Given the description of an element on the screen output the (x, y) to click on. 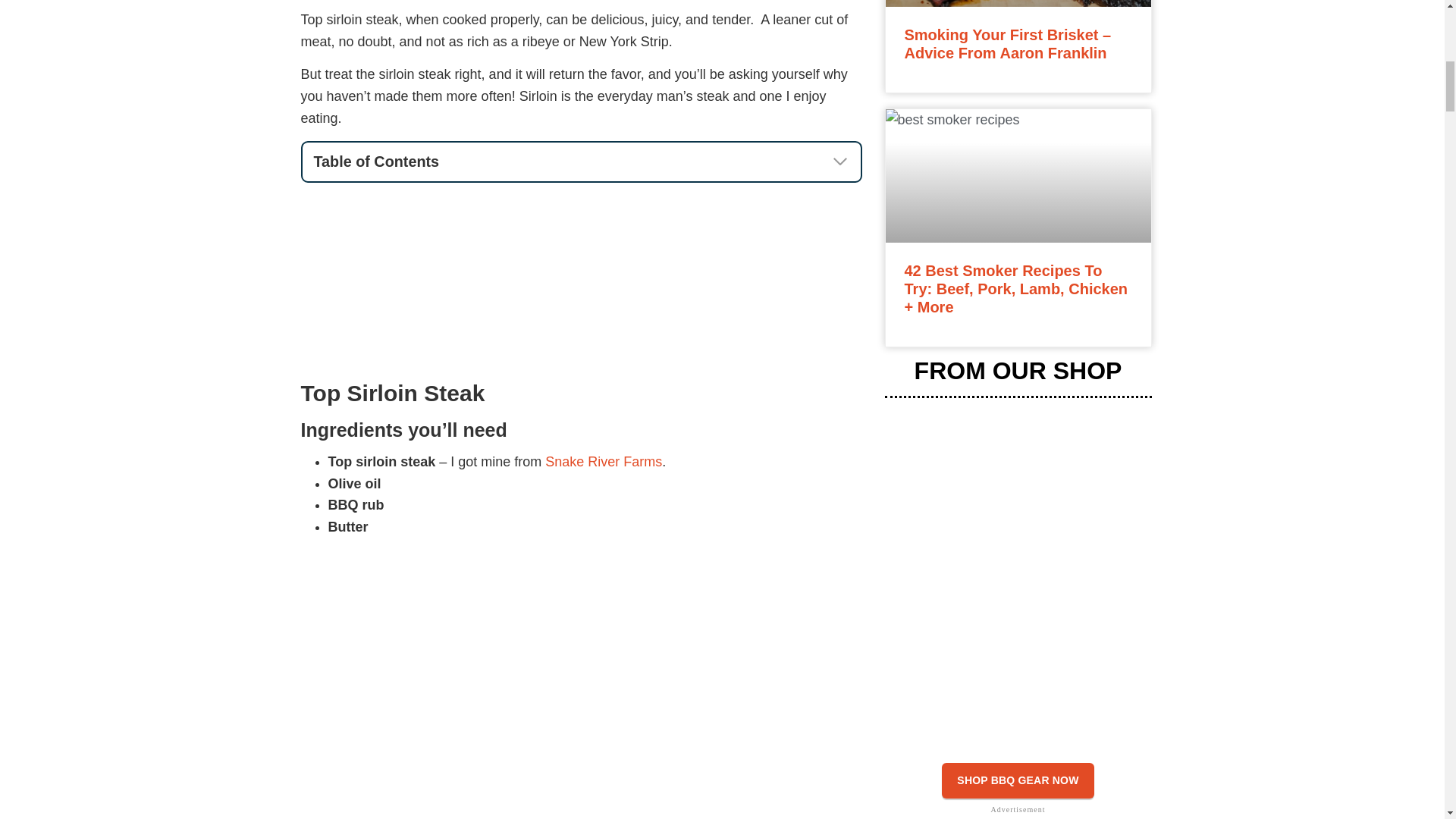
Table of Contents (580, 161)
